Given the description of an element on the screen output the (x, y) to click on. 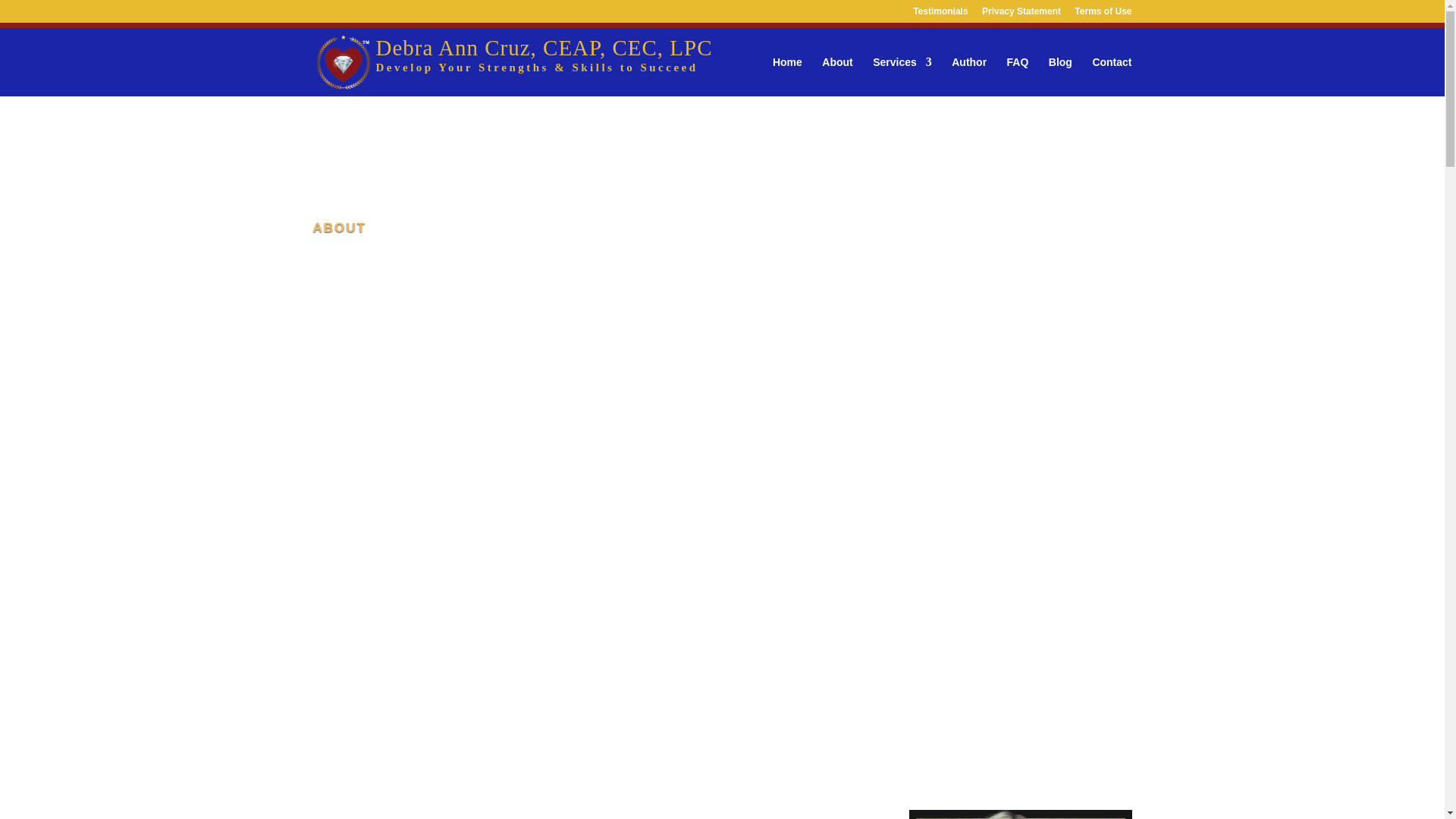
Terms of Use (1102, 14)
Privacy Statement (1021, 14)
Services (901, 76)
Contact (1111, 76)
Testimonials (940, 14)
